Given the description of an element on the screen output the (x, y) to click on. 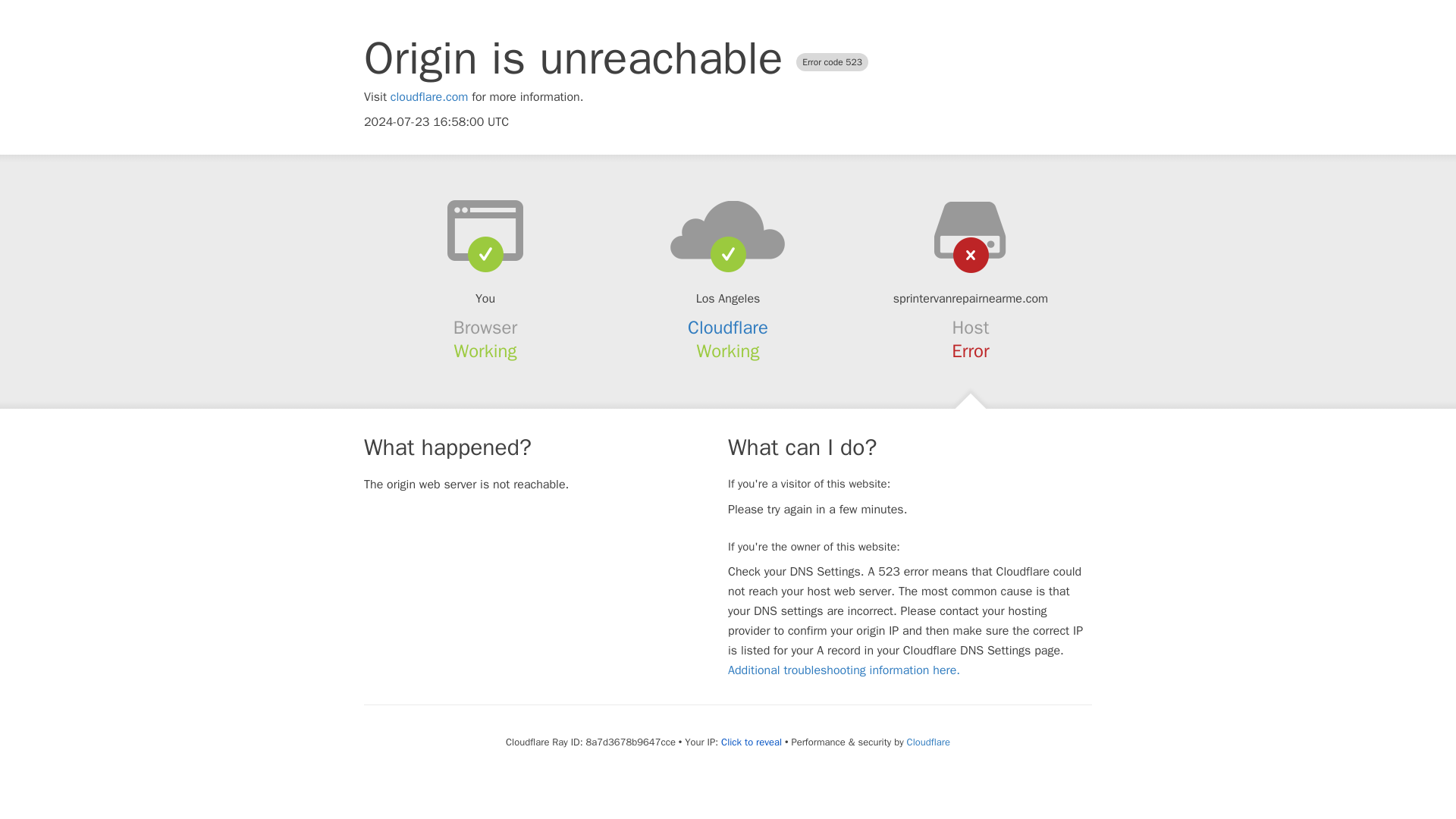
Cloudflare (928, 741)
Click to reveal (750, 742)
Cloudflare (727, 327)
cloudflare.com (429, 96)
Additional troubleshooting information here. (843, 670)
